Given the description of an element on the screen output the (x, y) to click on. 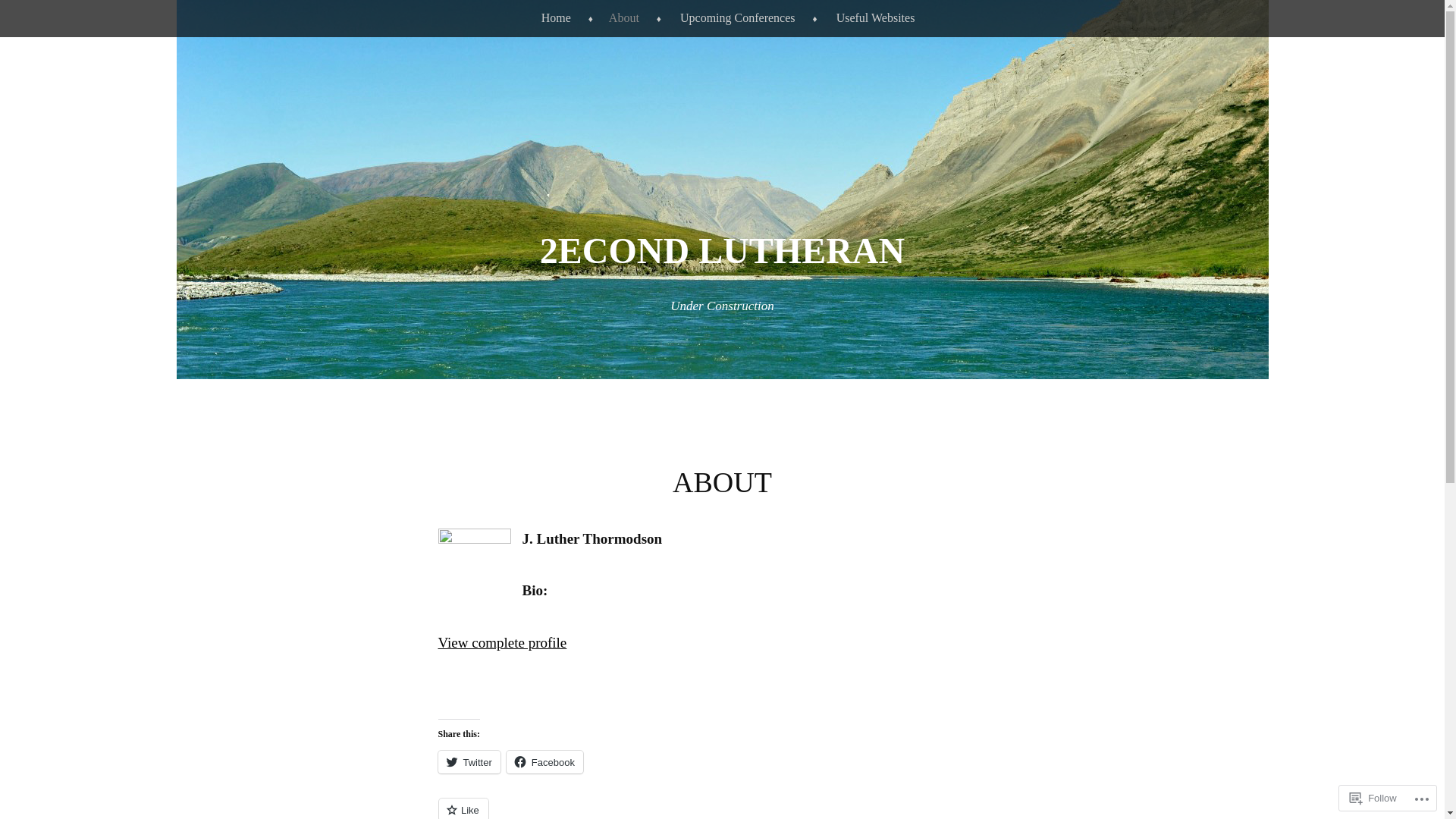
View complete profile Element type: text (502, 642)
Follow Element type: text (1372, 797)
Twitter Element type: text (469, 761)
Useful Websites Element type: text (869, 18)
Upcoming Conferences Element type: text (732, 18)
Home Element type: text (550, 18)
Facebook Element type: text (544, 761)
Skip to content Element type: text (36, 9)
2ECOND LUTHERAN Element type: text (721, 250)
About Element type: text (618, 18)
